Given the description of an element on the screen output the (x, y) to click on. 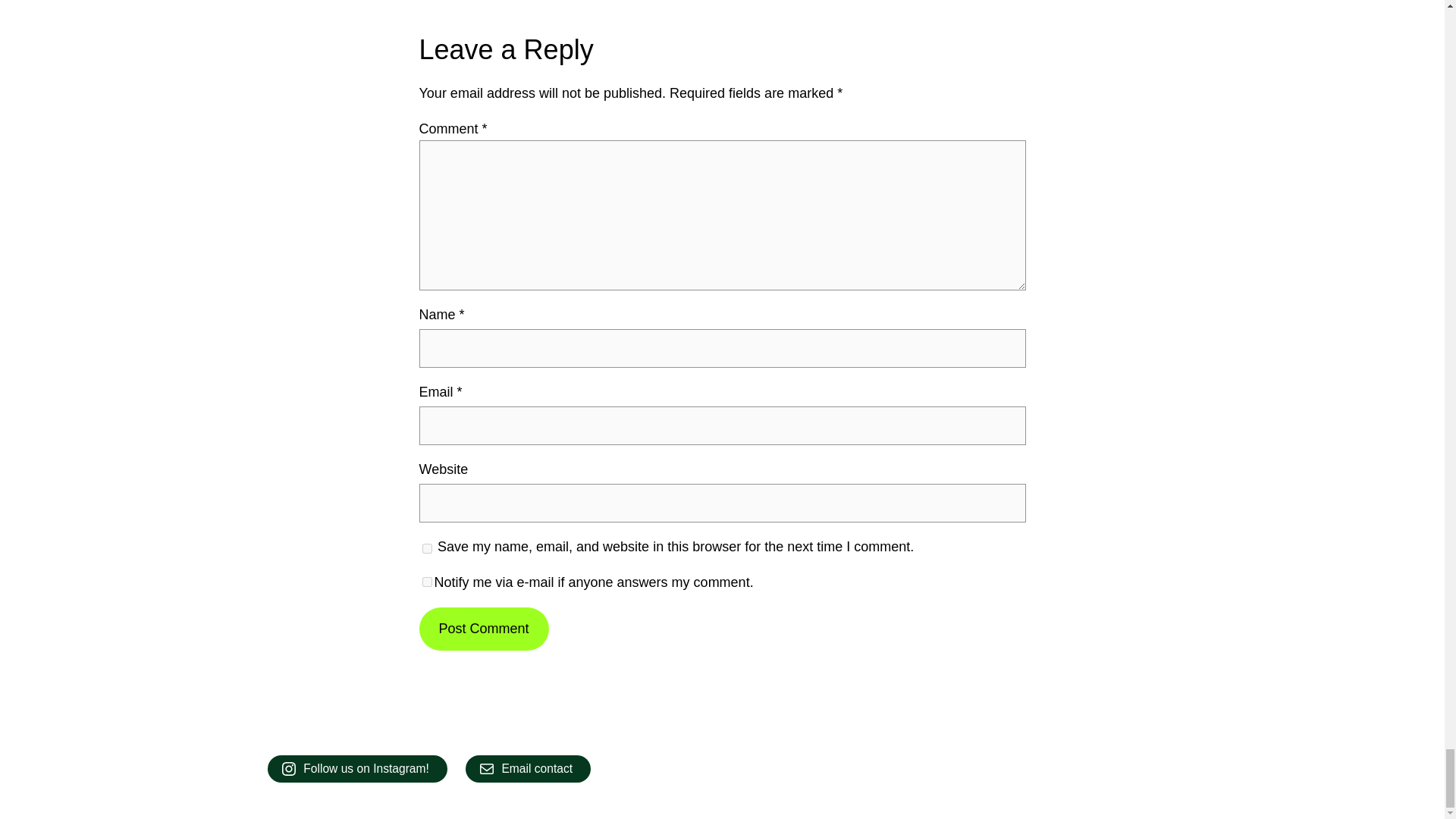
Post Comment (483, 628)
Email contact (528, 768)
on (426, 582)
Post Comment (483, 628)
Follow us on Instagram! (356, 768)
